Given the description of an element on the screen output the (x, y) to click on. 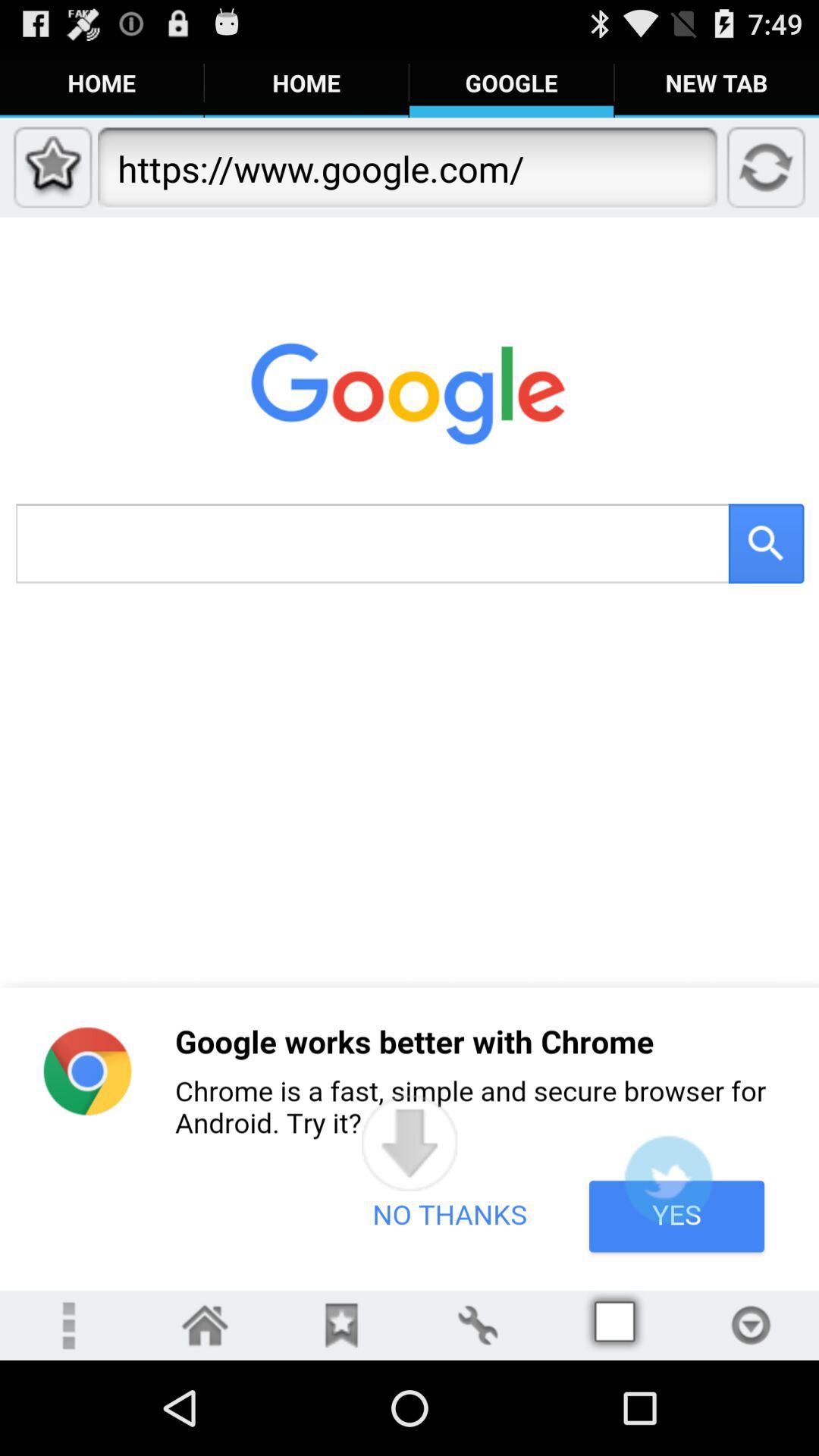
acess dropdown menu (750, 1325)
